Given the description of an element on the screen output the (x, y) to click on. 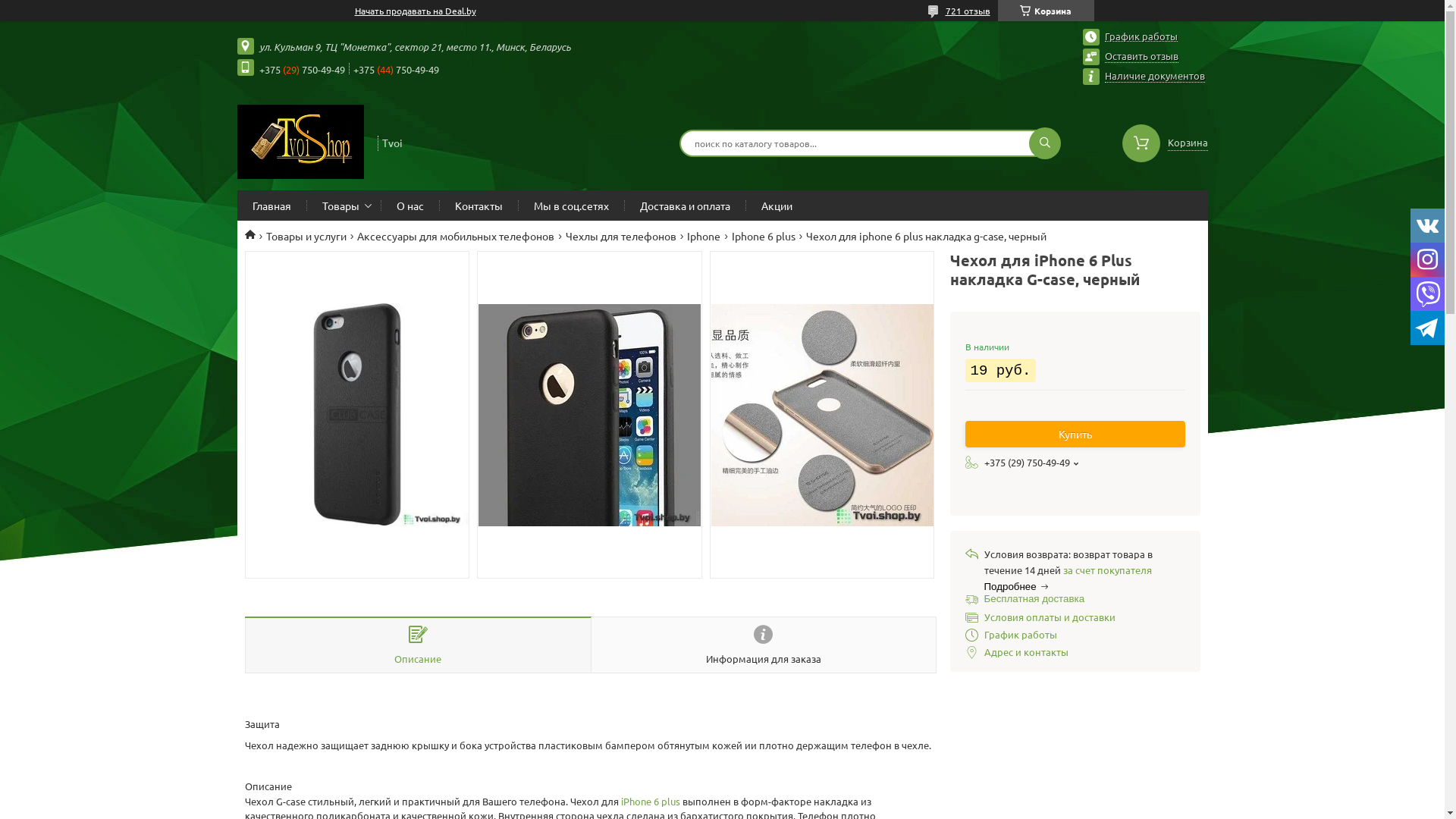
iPhone 6 plus Element type: text (649, 800)
Iphone 6 plus Element type: text (763, 235)
Iphone Element type: text (703, 235)
